Given the description of an element on the screen output the (x, y) to click on. 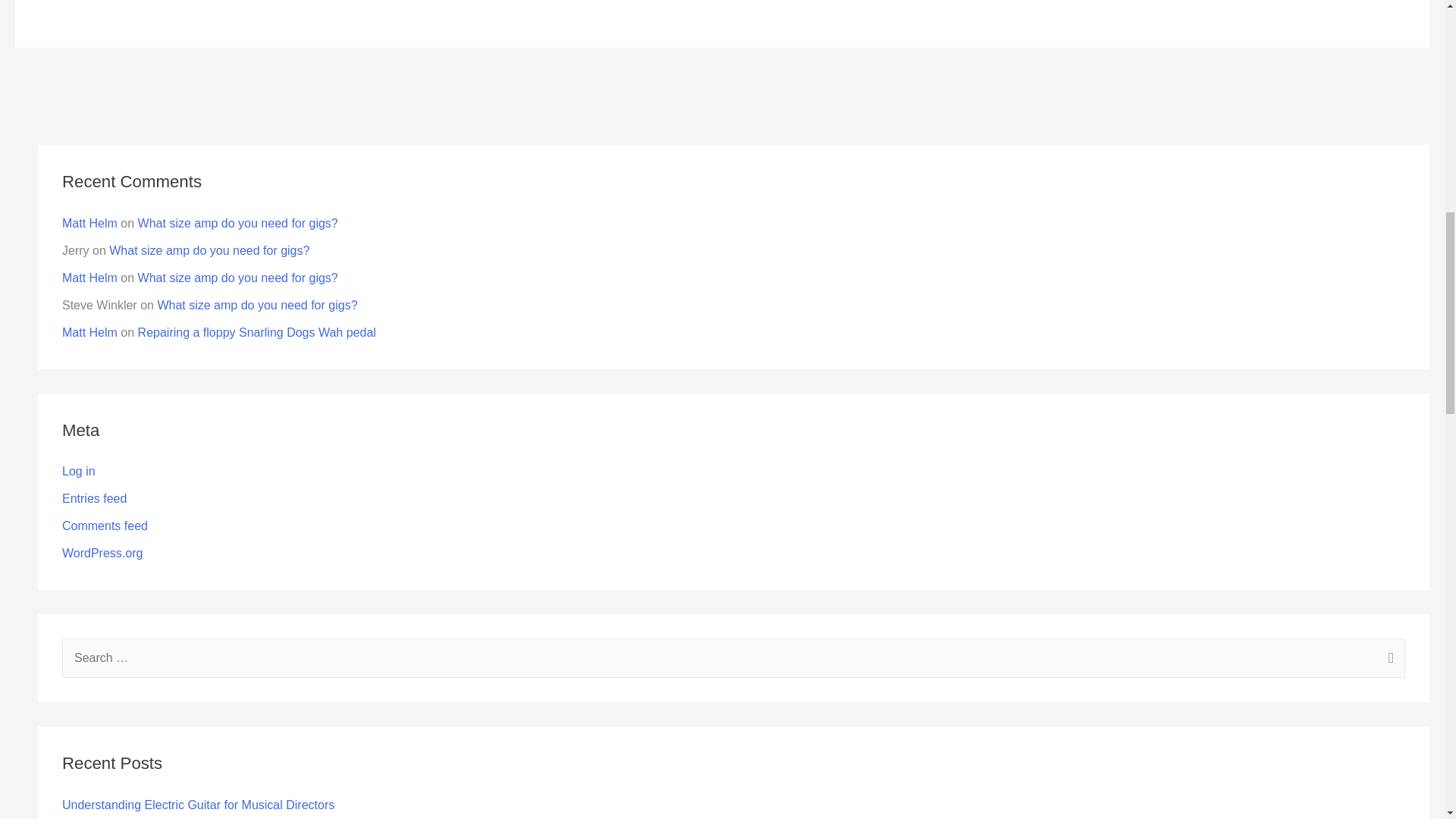
Log in (79, 471)
Entries feed (94, 498)
Matt Helm (89, 332)
WordPress.org (102, 553)
What size amp do you need for gigs? (237, 223)
Matt Helm (89, 277)
Repairing a floppy Snarling Dogs Wah pedal (256, 332)
What size amp do you need for gigs? (237, 277)
Comments feed (105, 525)
What size amp do you need for gigs? (208, 250)
